Given the description of an element on the screen output the (x, y) to click on. 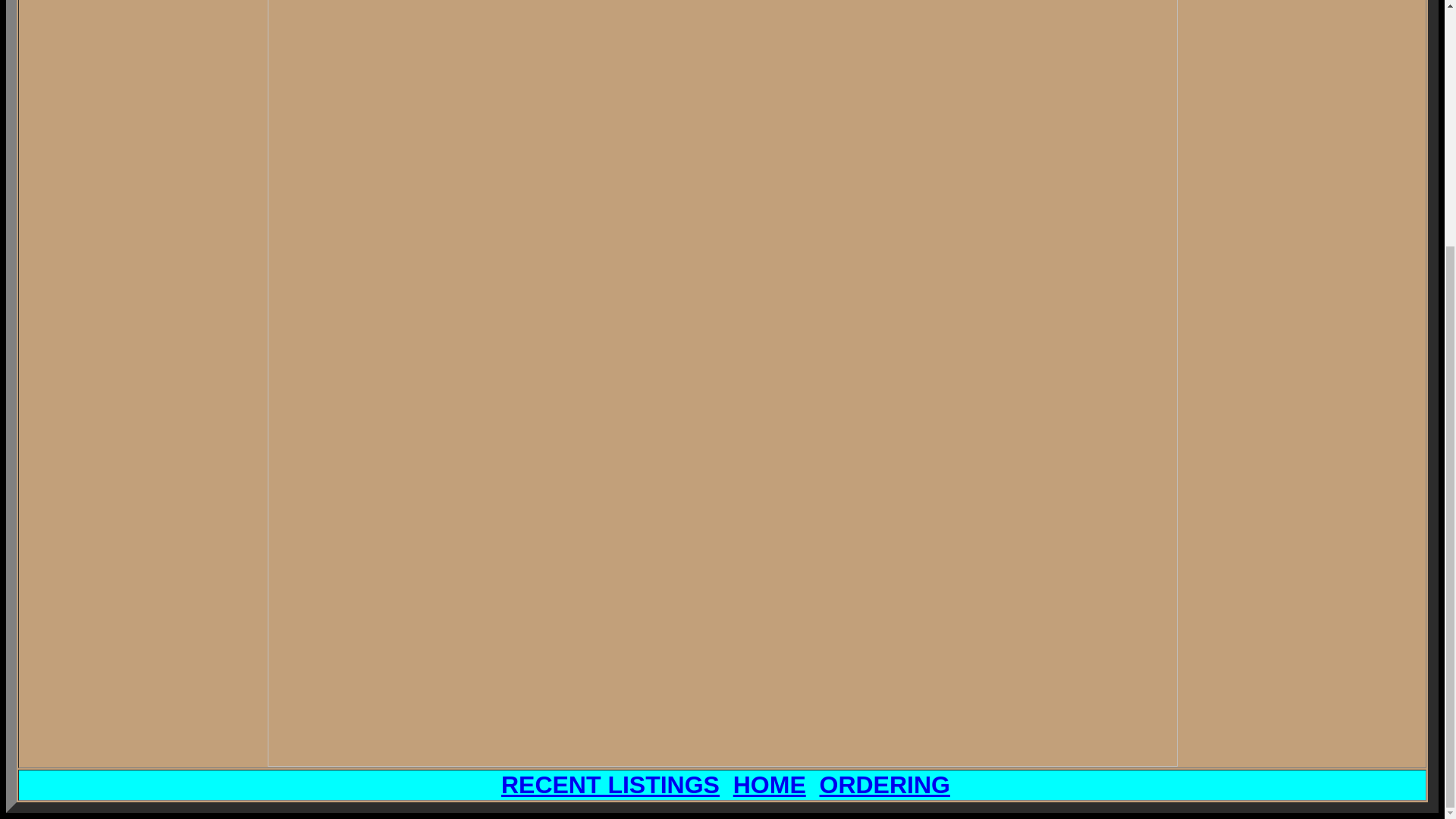
ORDERING (883, 784)
HOME (769, 784)
RECENT LISTINGS (609, 784)
